Given the description of an element on the screen output the (x, y) to click on. 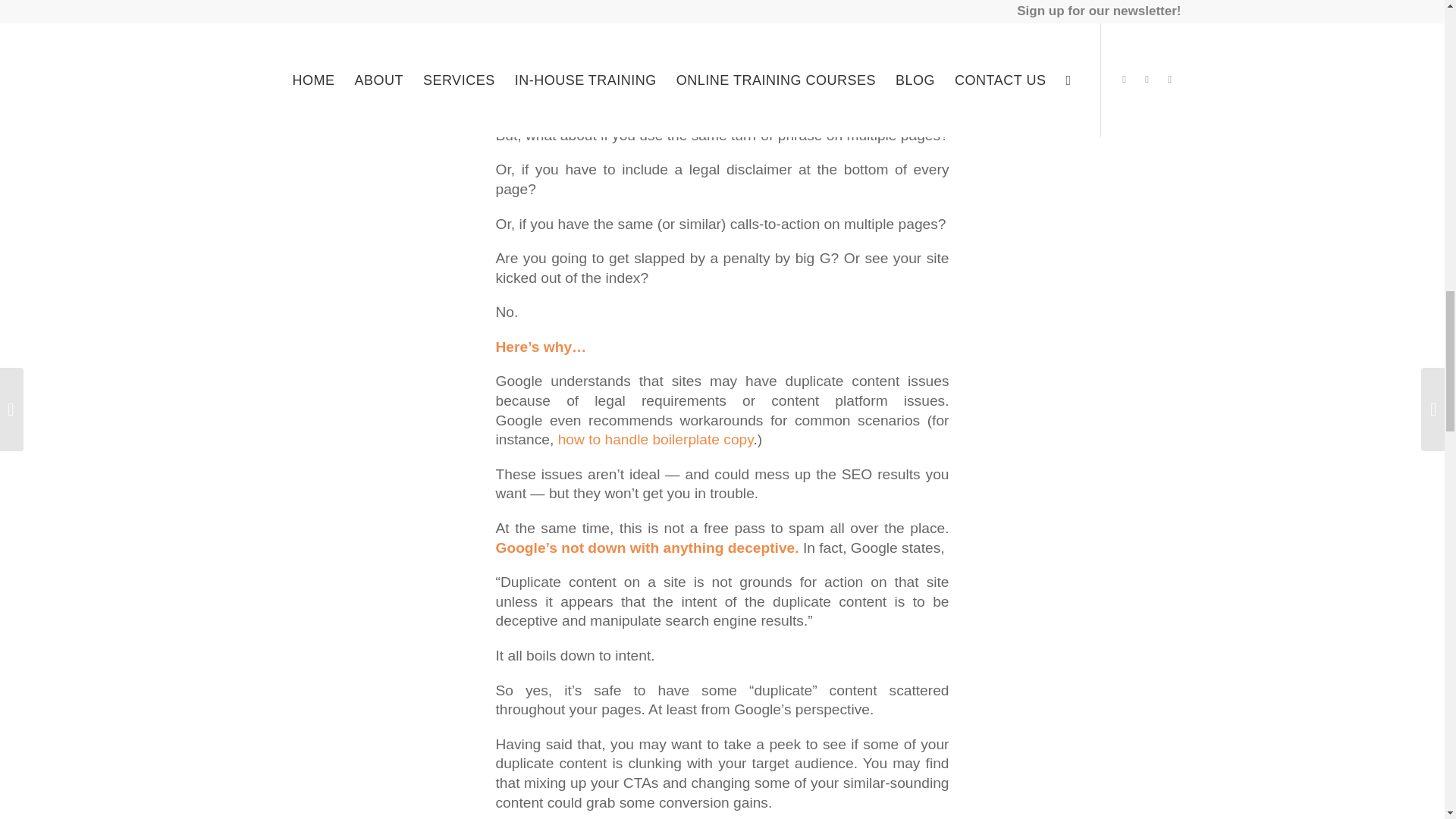
how to handle boilerplate copy (655, 439)
